Given the description of an element on the screen output the (x, y) to click on. 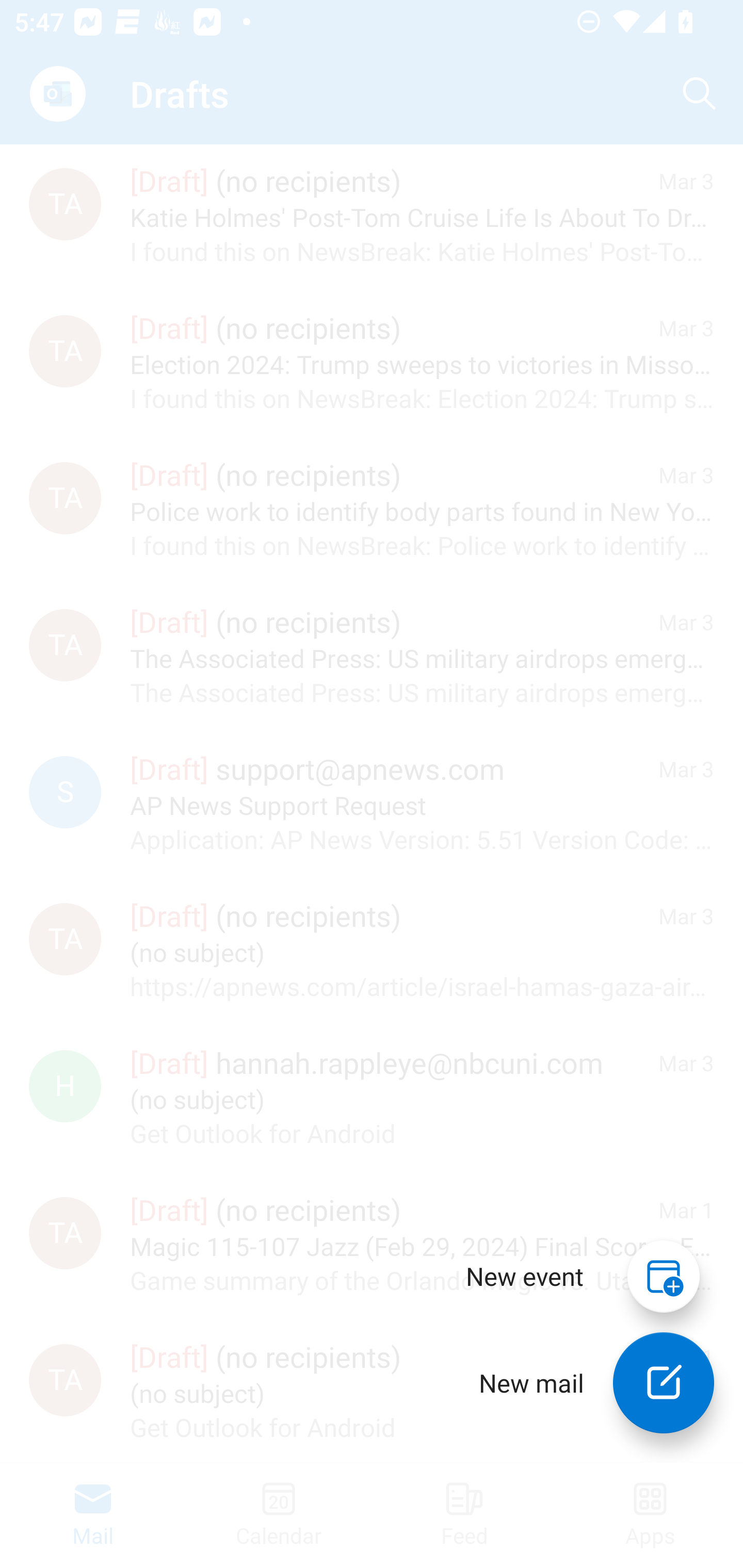
New event (524, 1275)
New mail New mail New mail (582, 1382)
New mail (663, 1382)
